Given the description of an element on the screen output the (x, y) to click on. 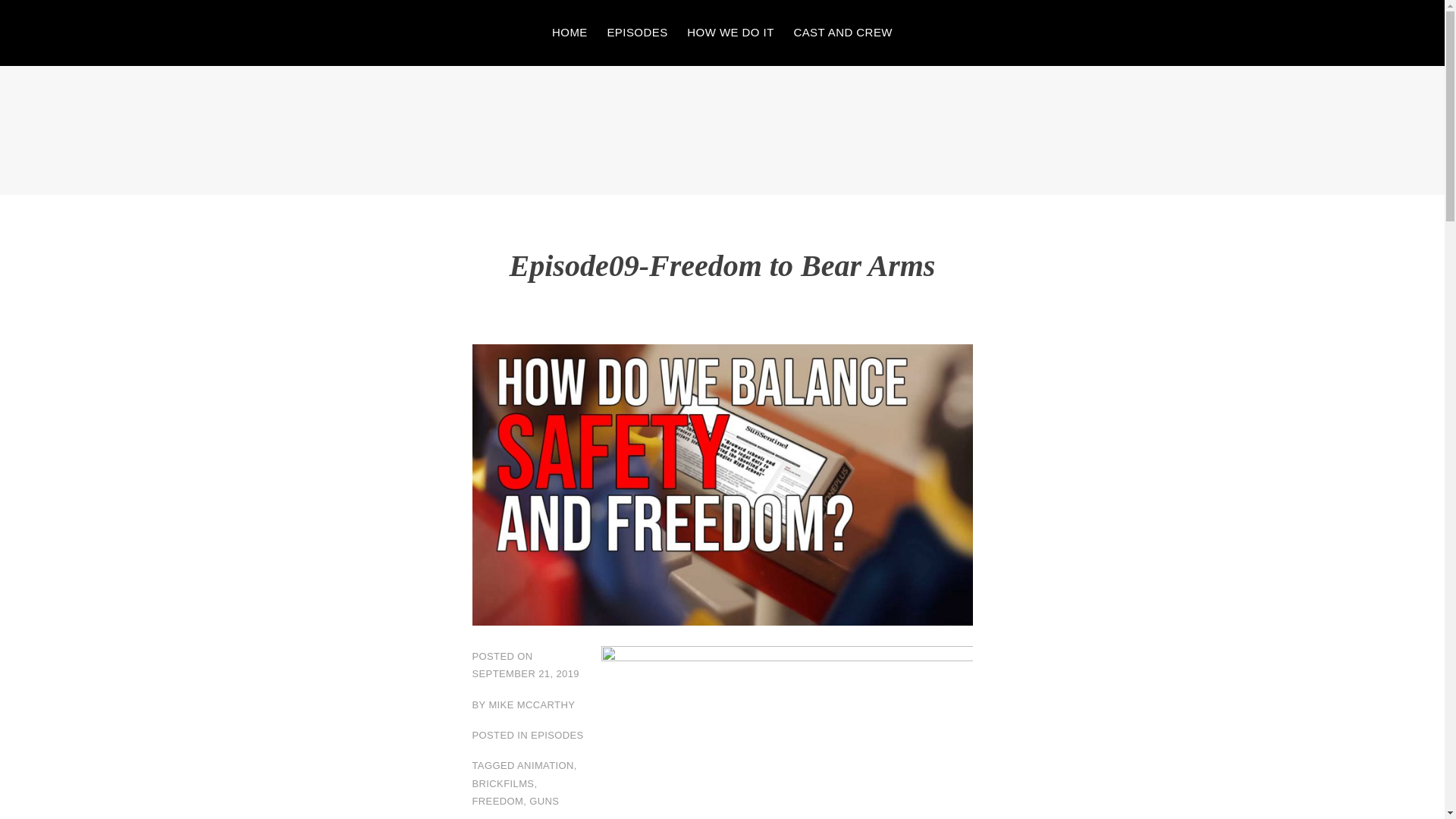
CAST AND CREW (842, 32)
MIKE MCCARTHY (531, 704)
GUNS (544, 800)
EPISODES (636, 32)
ANIMATION (544, 765)
HOW WE DO IT (730, 32)
BRICKFILMS (502, 783)
Search (42, 15)
GROUNDS OF FREEDOM (206, 156)
FREEDOM (496, 800)
